Given the description of an element on the screen output the (x, y) to click on. 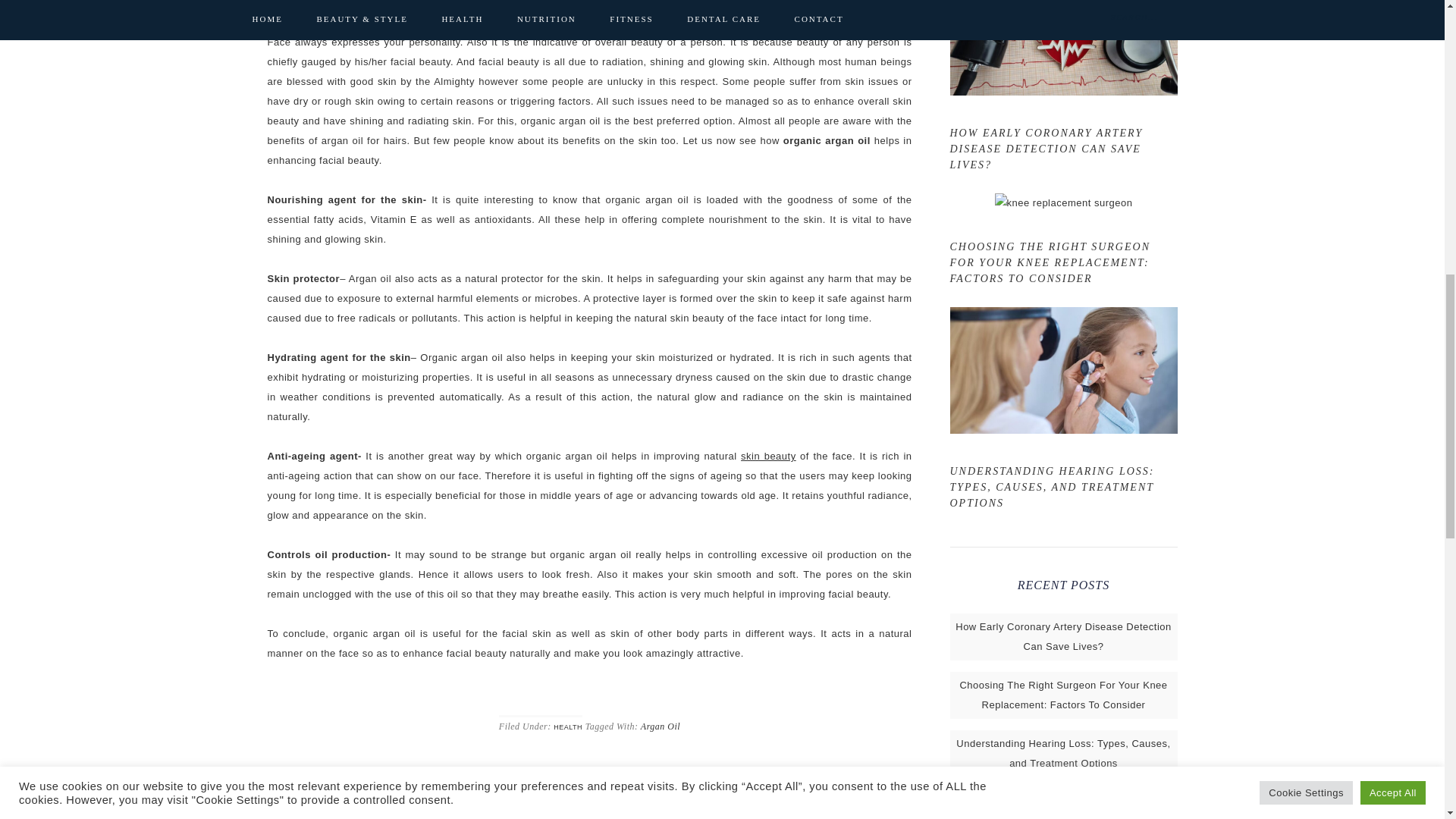
How Early Coronary Artery Disease Detection Can Save Lives? (1063, 635)
skin beauty (768, 455)
HOW EARLY CORONARY ARTERY DISEASE DETECTION CAN SAVE LIVES? (1045, 148)
Argan Oil (659, 726)
HEALTH (567, 727)
